Given the description of an element on the screen output the (x, y) to click on. 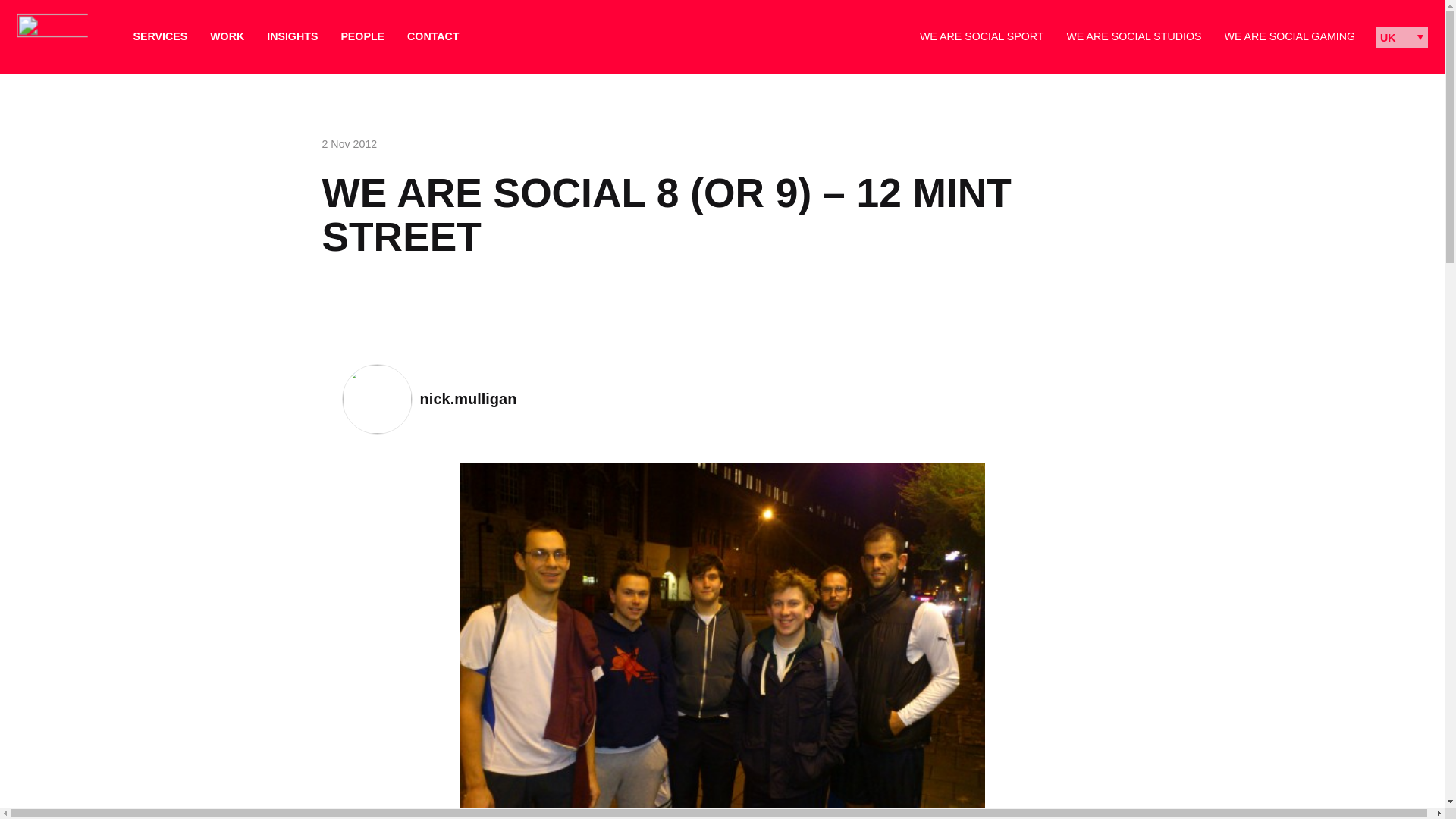
WE ARE SOCIAL GAMING (1289, 36)
We Are Social Sport (981, 36)
Contact (432, 36)
Work (226, 36)
WE ARE SOCIAL STUDIOS (1133, 36)
Select to toggle search form (488, 36)
WE ARE SOCIAL SPORT (981, 36)
Insights (291, 36)
CONTACT (432, 36)
WORK (226, 36)
